Given the description of an element on the screen output the (x, y) to click on. 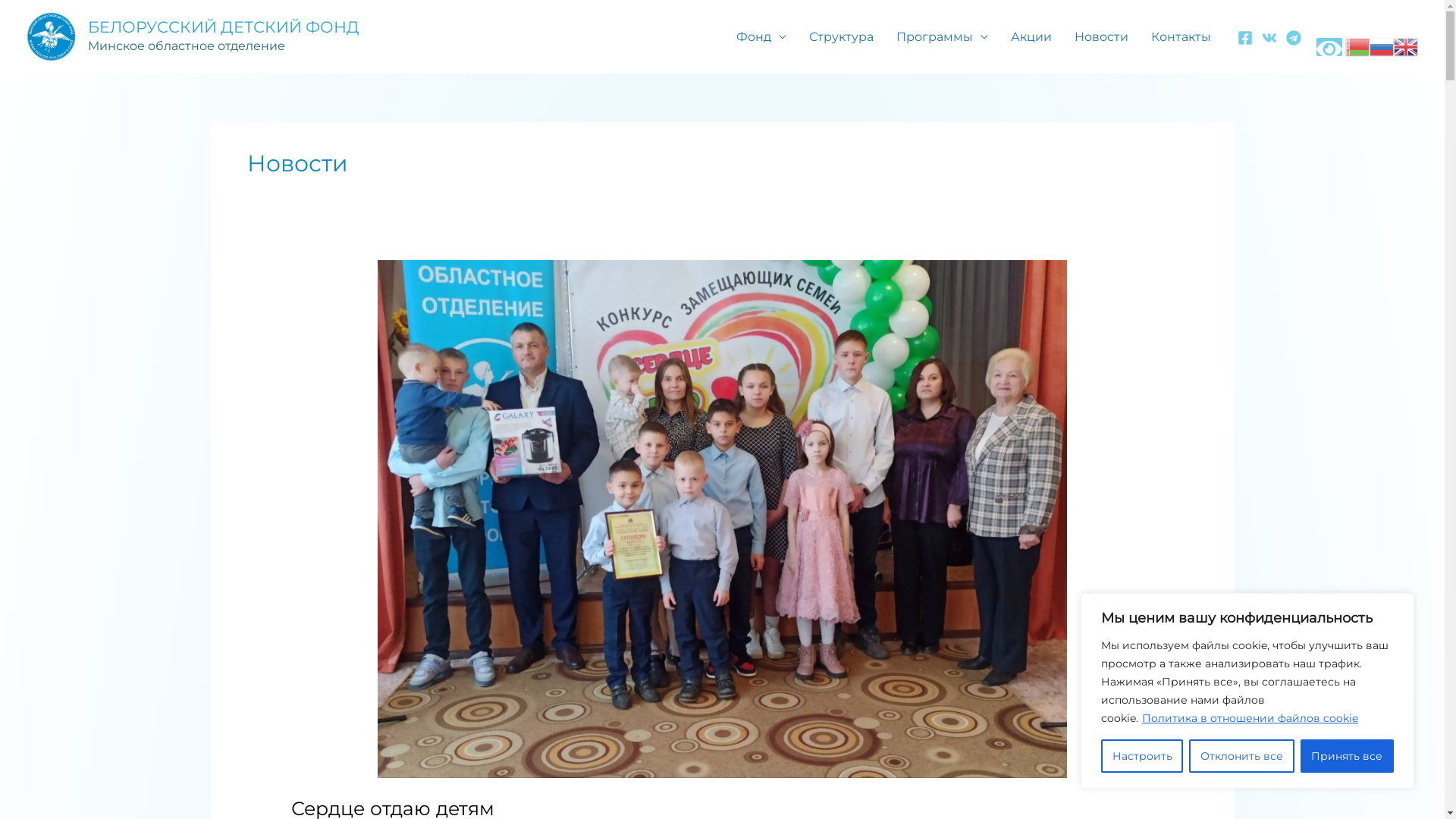
English Element type: hover (1405, 44)
Russian Element type: hover (1381, 44)
Belarusian Element type: hover (1357, 44)
